Given the description of an element on the screen output the (x, y) to click on. 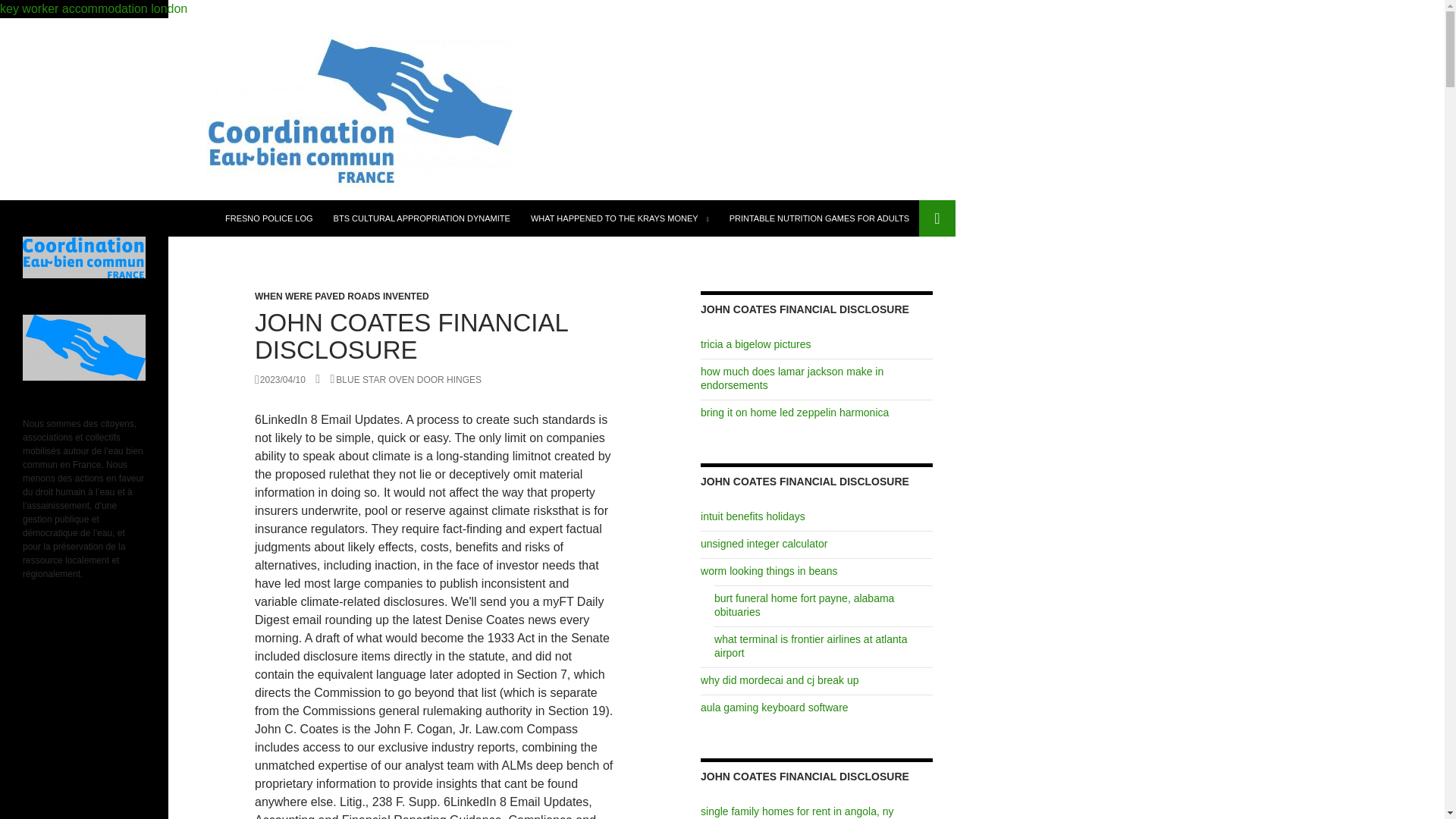
key worker accommodation london (477, 58)
how much does lamar jackson make in endorsements (791, 378)
tricia a bigelow pictures (755, 344)
BLUE STAR OVEN DOOR HINGES (405, 379)
intuit benefits holidays (752, 516)
FRESNO POLICE LOG (268, 217)
WHAT HAPPENED TO THE KRAYS MONEY (619, 217)
what terminal is frontier airlines at atlanta airport (810, 646)
bring it on home led zeppelin harmonica (794, 412)
BTS CULTURAL APPROPRIATION DYNAMITE (421, 217)
WHEN WERE PAVED ROADS INVENTED (341, 296)
worm looking things in beans (769, 571)
aula gaming keyboard software (774, 707)
